Given the description of an element on the screen output the (x, y) to click on. 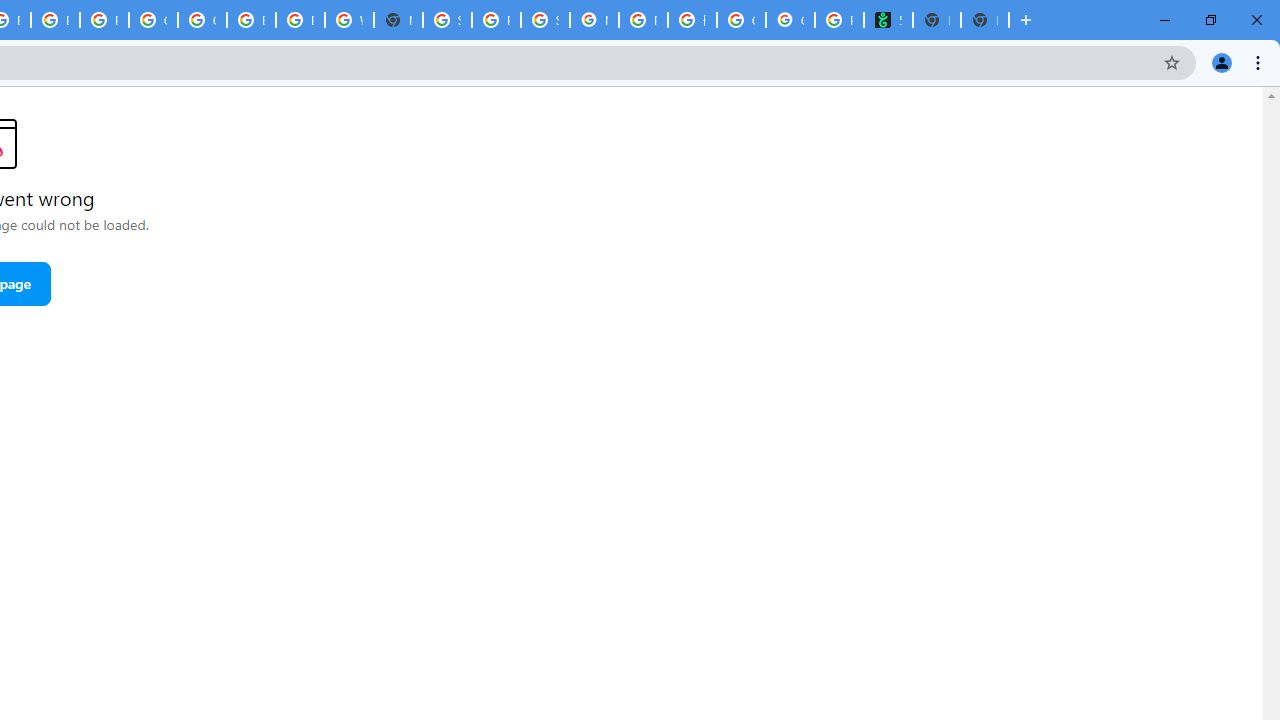
Browse Chrome as a guest - Computer - Google Chrome Help (251, 20)
Google Cloud Platform (153, 20)
Sign in - Google Accounts (447, 20)
